Given the description of an element on the screen output the (x, y) to click on. 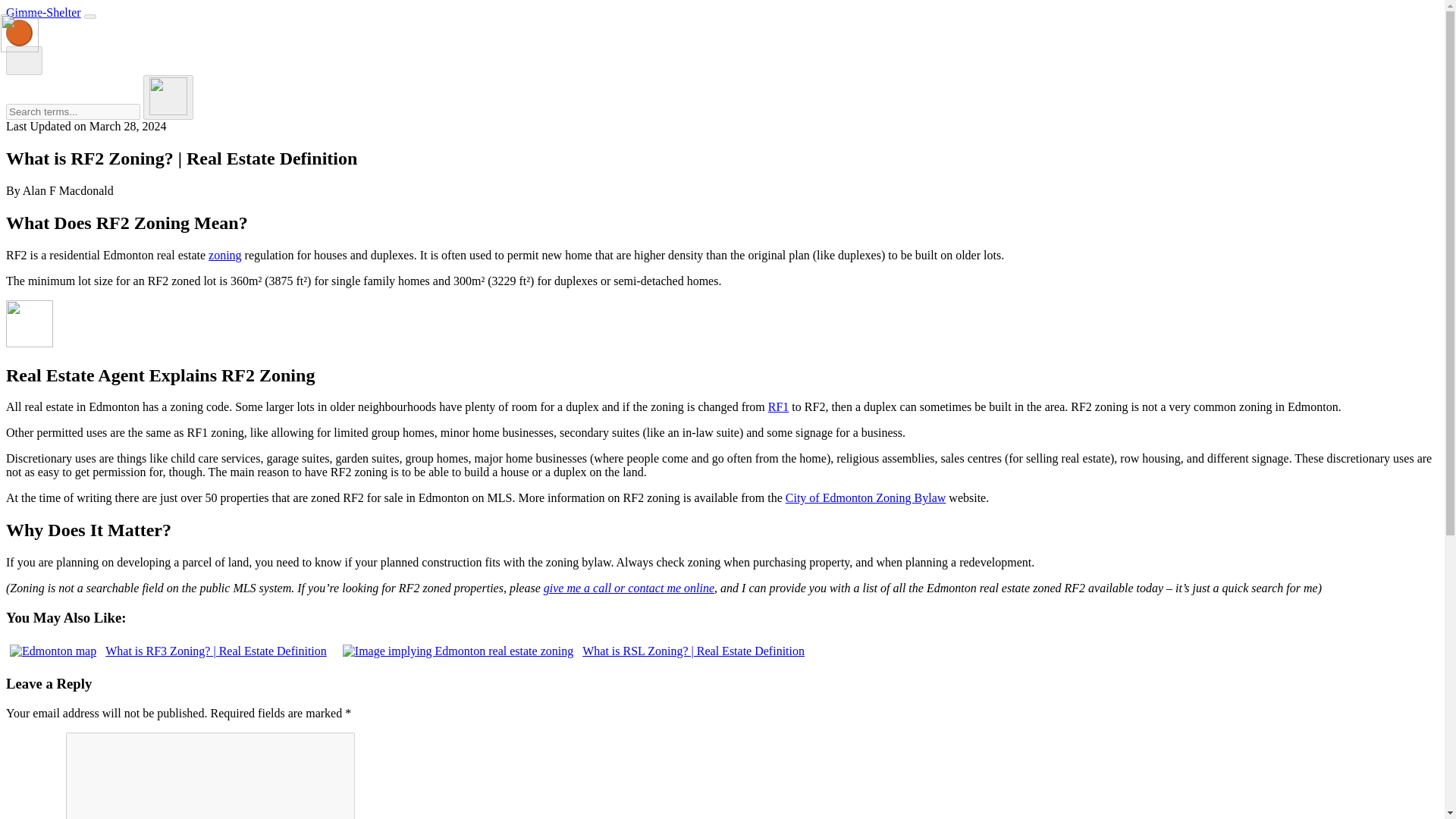
City of Edmonton Zoning Bylaw (866, 497)
zoning (224, 254)
RF1 (778, 406)
give me a call or contact me online (628, 587)
Gimme-Shelter (43, 11)
